Given the description of an element on the screen output the (x, y) to click on. 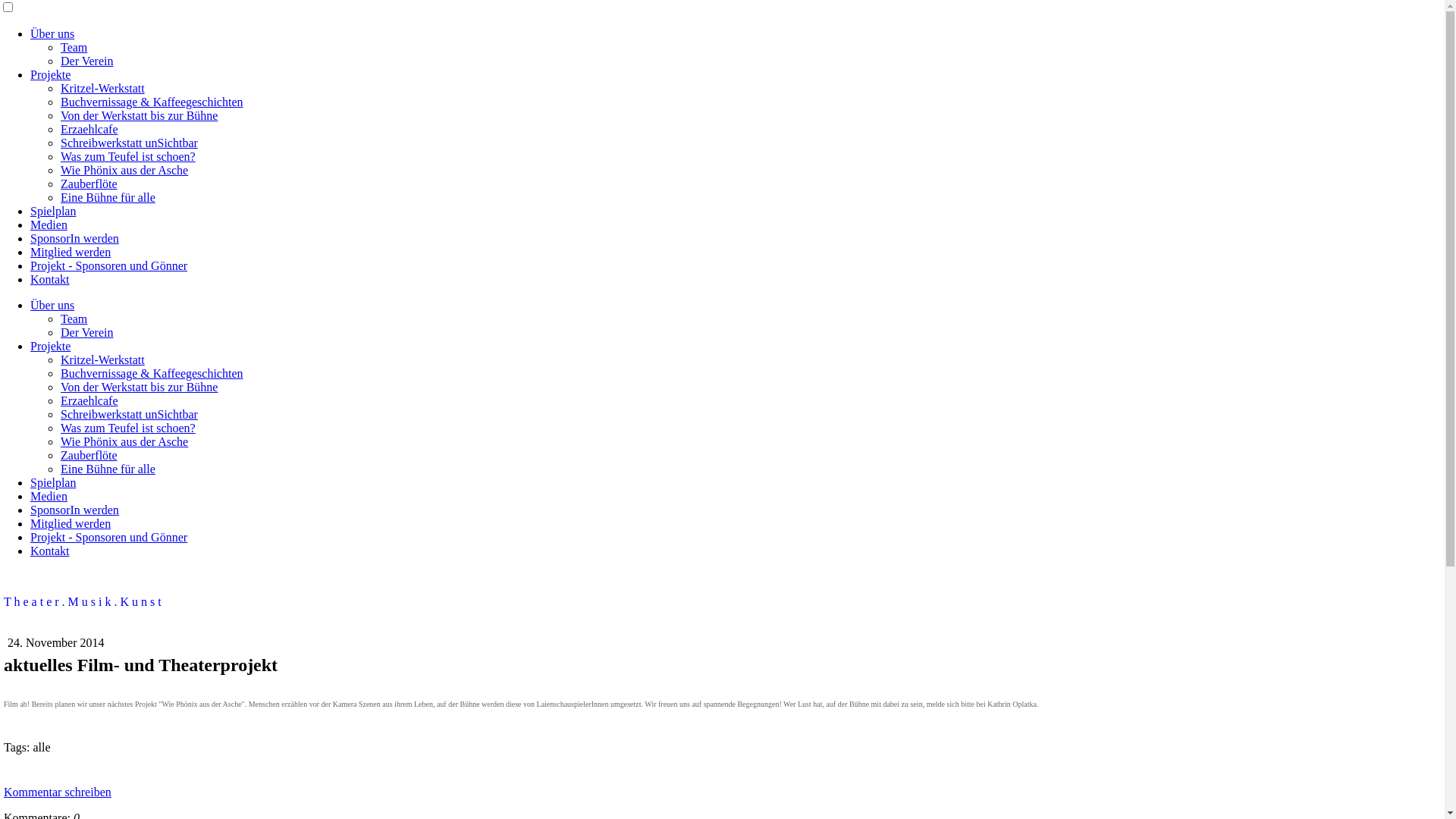
SponsorIn werden Element type: text (74, 509)
Der Verein Element type: text (86, 60)
Buchvernissage & Kaffeegeschichten Element type: text (151, 101)
Medien Element type: text (48, 224)
Erzaehlcafe Element type: text (88, 400)
Was zum Teufel ist schoen? Element type: text (127, 427)
Spielplan Element type: text (52, 210)
Kritzel-Werkstatt Element type: text (102, 87)
Schreibwerkstatt unSichtbar Element type: text (128, 142)
T h e a t e r . M u s i k . K u n s t Element type: text (721, 601)
Mitglied werden Element type: text (70, 251)
Was zum Teufel ist schoen? Element type: text (127, 156)
Kontakt Element type: text (49, 550)
Team Element type: text (73, 46)
Projekte Element type: text (50, 74)
Medien Element type: text (48, 495)
Buchvernissage & Kaffeegeschichten Element type: text (151, 373)
Spielplan Element type: text (52, 482)
Der Verein Element type: text (86, 332)
Kommentar schreiben Element type: text (57, 791)
Projekte Element type: text (50, 345)
Kritzel-Werkstatt Element type: text (102, 359)
SponsorIn werden Element type: text (74, 238)
Kontakt Element type: text (49, 279)
Schreibwerkstatt unSichtbar Element type: text (128, 413)
Mitglied werden Element type: text (70, 523)
Erzaehlcafe Element type: text (88, 128)
Team Element type: text (73, 318)
